Given the description of an element on the screen output the (x, y) to click on. 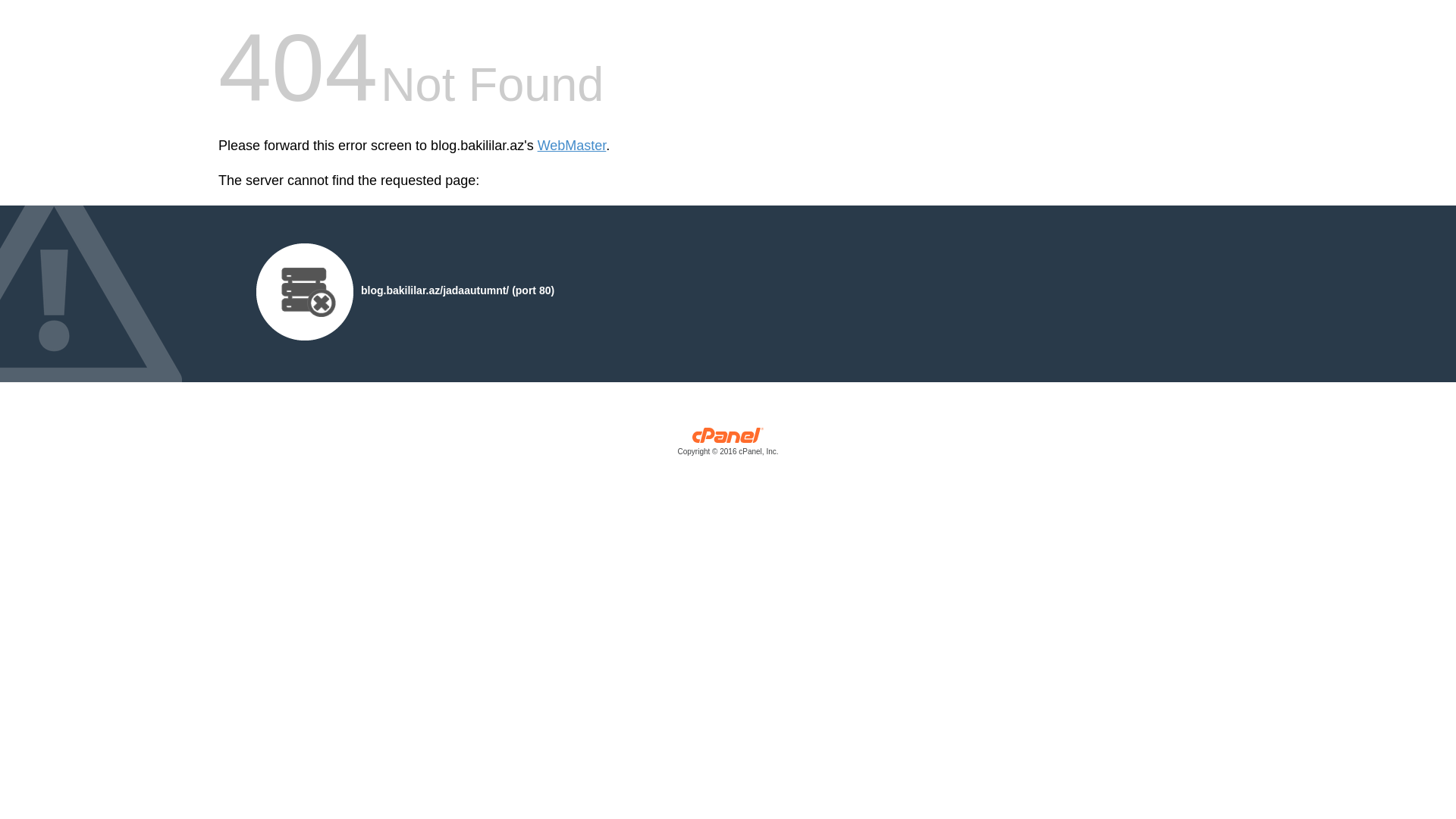
WebMaster Element type: text (571, 145)
